Given the description of an element on the screen output the (x, y) to click on. 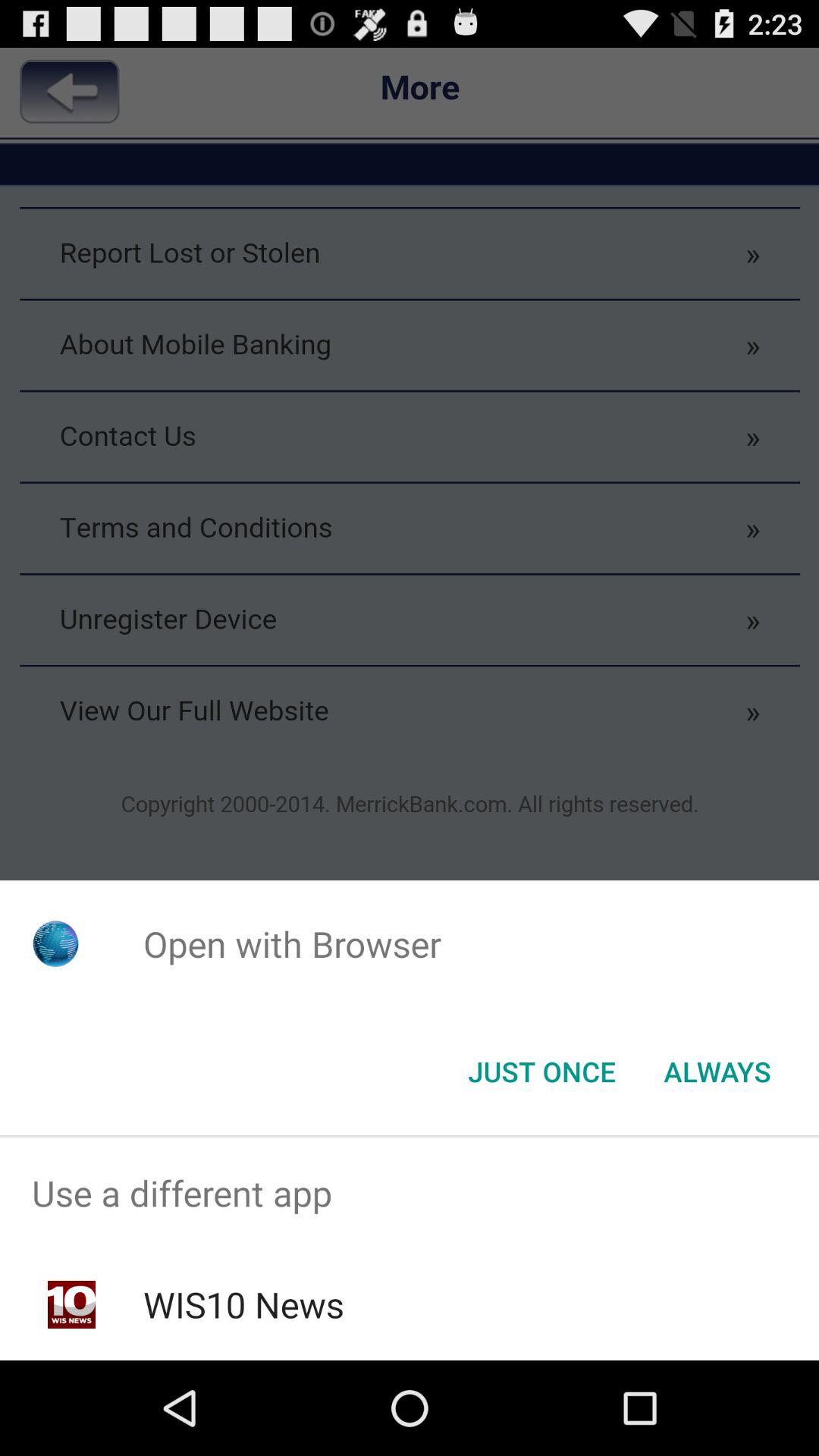
tap wis10 news app (243, 1304)
